Given the description of an element on the screen output the (x, y) to click on. 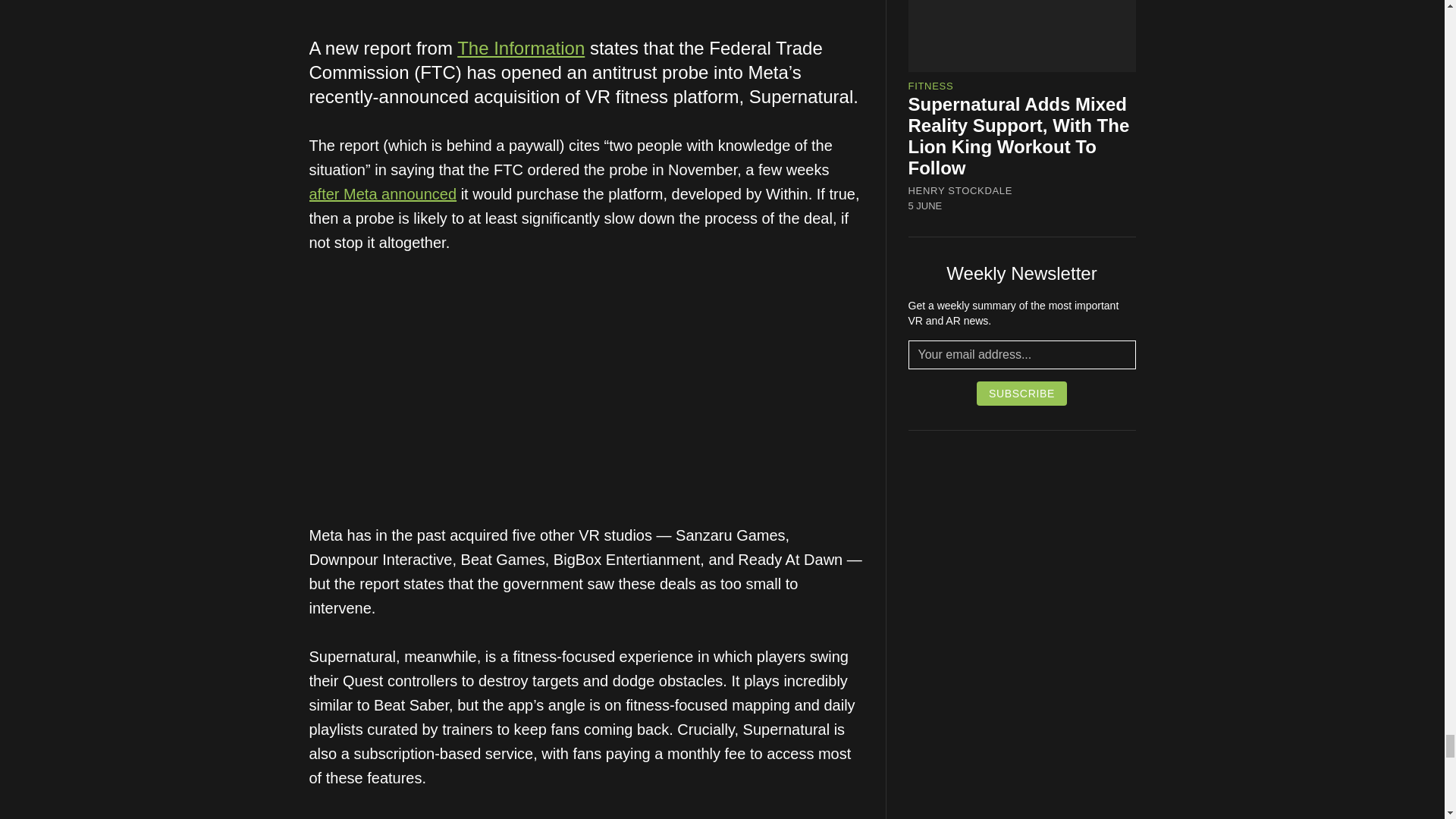
Subscribe (1021, 393)
The Information (521, 47)
Subscribe (1021, 393)
FITNESS (930, 85)
HENRY STOCKDALE (960, 191)
after Meta announced (382, 193)
